Given the description of an element on the screen output the (x, y) to click on. 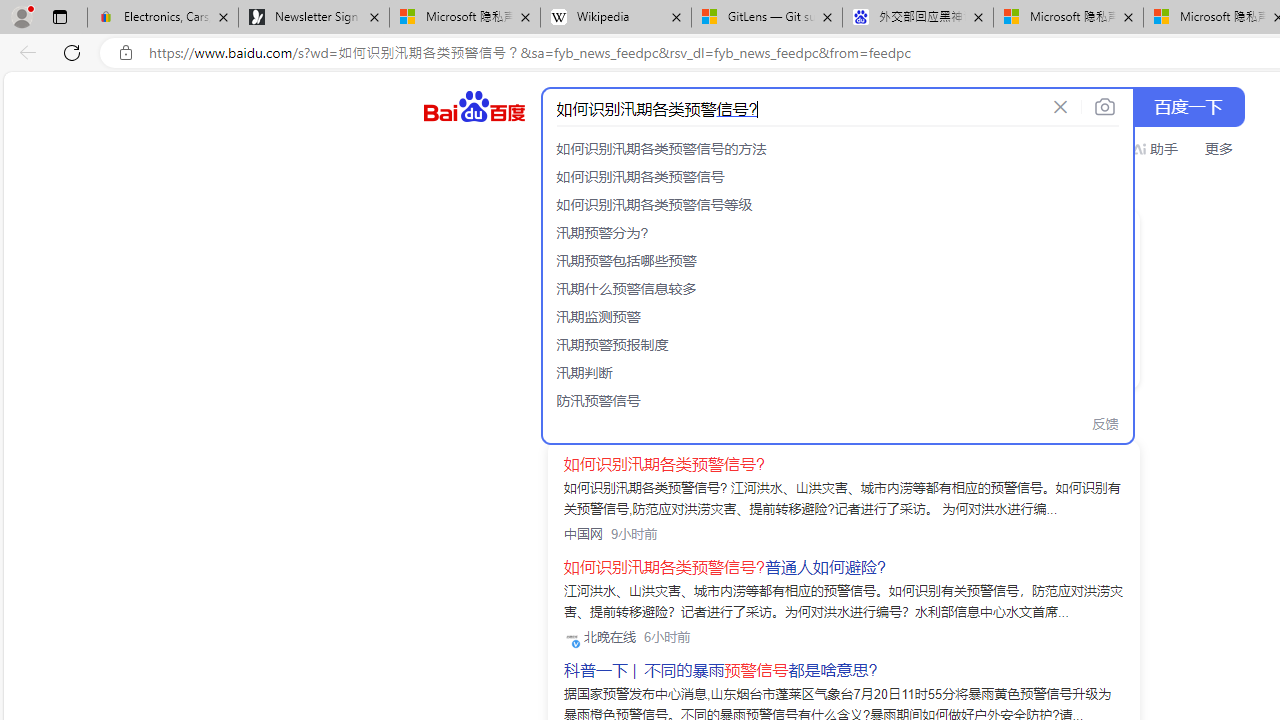
Class: sc-link _link_kwqvb_2 -v-color-primary block (699, 297)
